Given the description of an element on the screen output the (x, y) to click on. 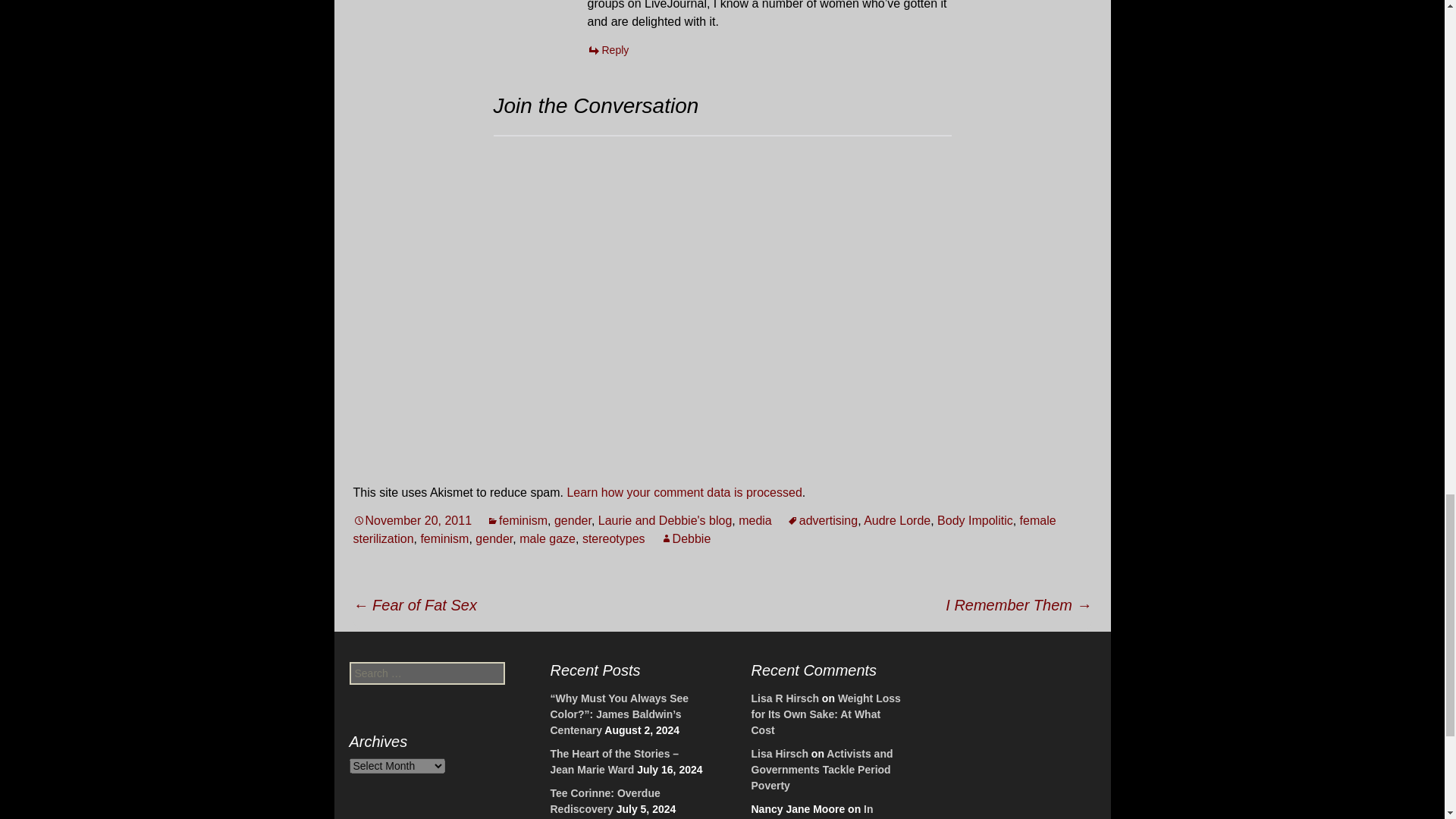
Audre Lorde (896, 520)
View all posts by Debbie (686, 538)
media (754, 520)
Laurie and Debbie's blog (665, 520)
November 20, 2011 (412, 520)
Learn how your comment data is processed (684, 492)
gender (572, 520)
Body Impolitic (975, 520)
advertising (822, 520)
feminism (516, 520)
Reply (607, 50)
